Given the description of an element on the screen output the (x, y) to click on. 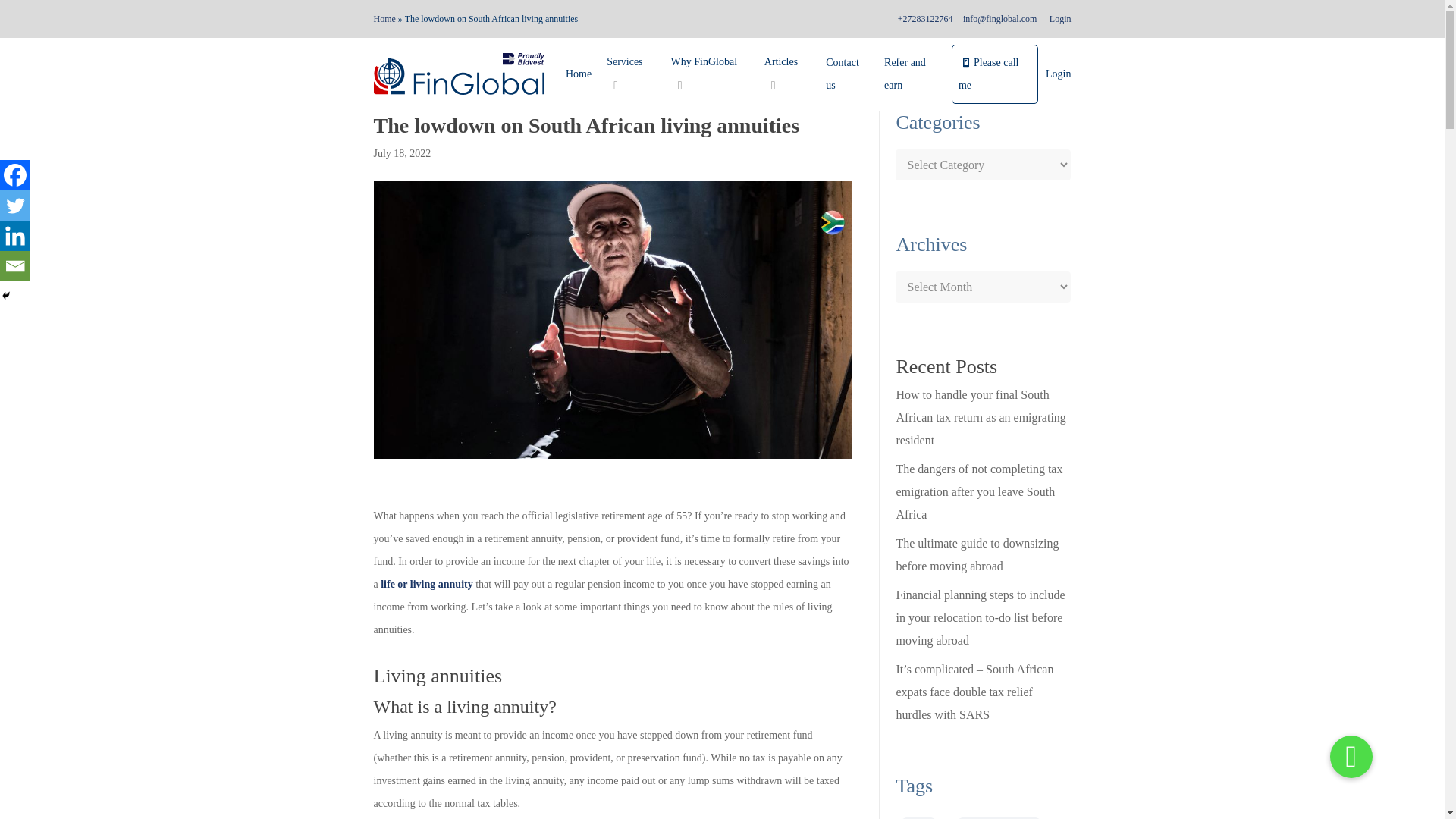
Why FinGlobal (710, 73)
Hide (5, 295)
Facebook (15, 174)
Home (577, 73)
 Login (1058, 18)
Linkedin (15, 235)
Home (383, 18)
Articles (787, 73)
Email (15, 265)
Services (630, 73)
Twitter (15, 205)
